Given the description of an element on the screen output the (x, y) to click on. 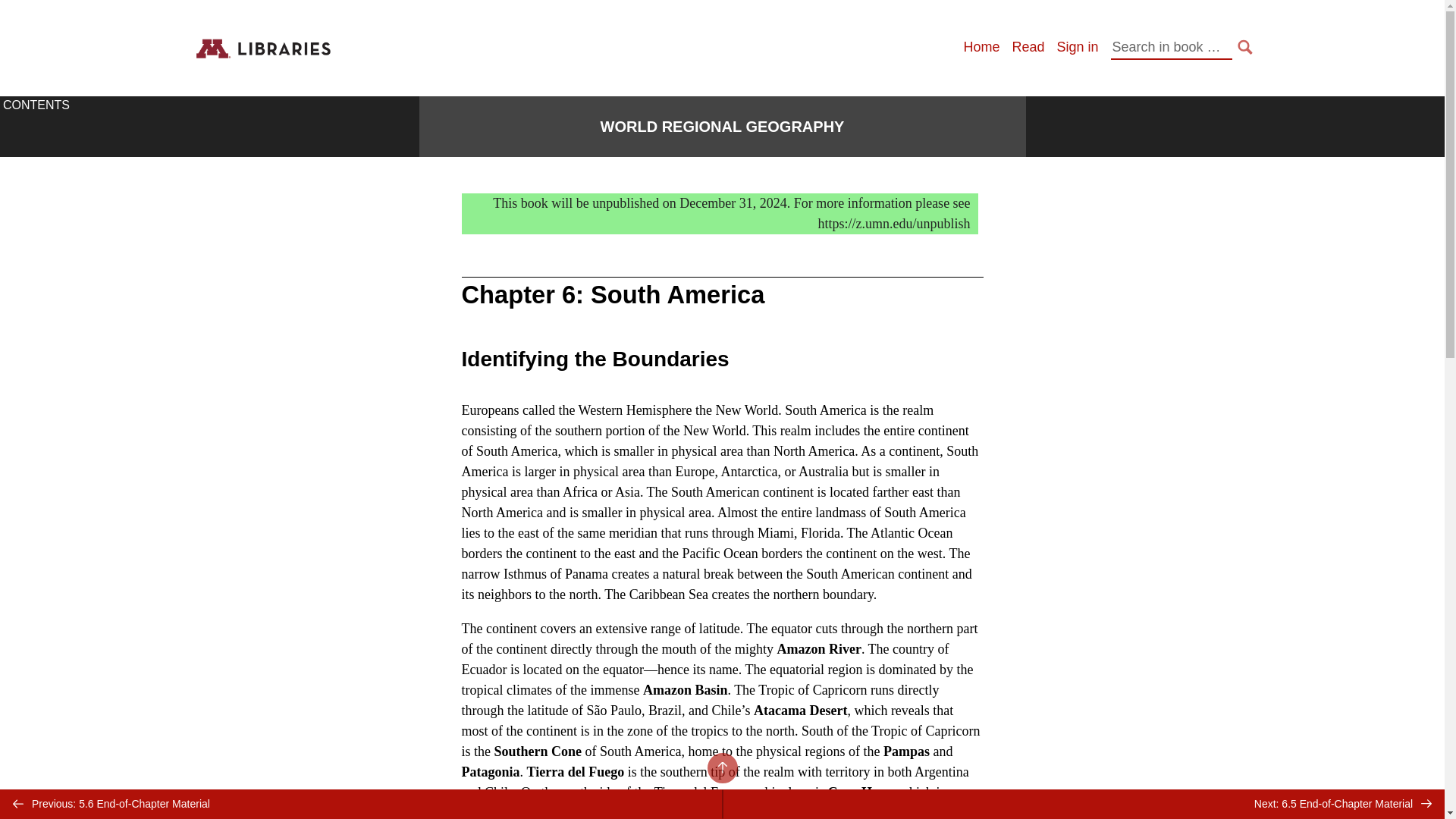
Home (980, 46)
Previous: 5.6 End-of-Chapter Material (361, 804)
SEARCH (1244, 47)
Read (1027, 46)
BACK TO TOP (721, 767)
Sign in (1077, 46)
Previous: 5.6 End-of-Chapter Material (361, 804)
WORLD REGIONAL GEOGRAPHY (721, 126)
